Given the description of an element on the screen output the (x, y) to click on. 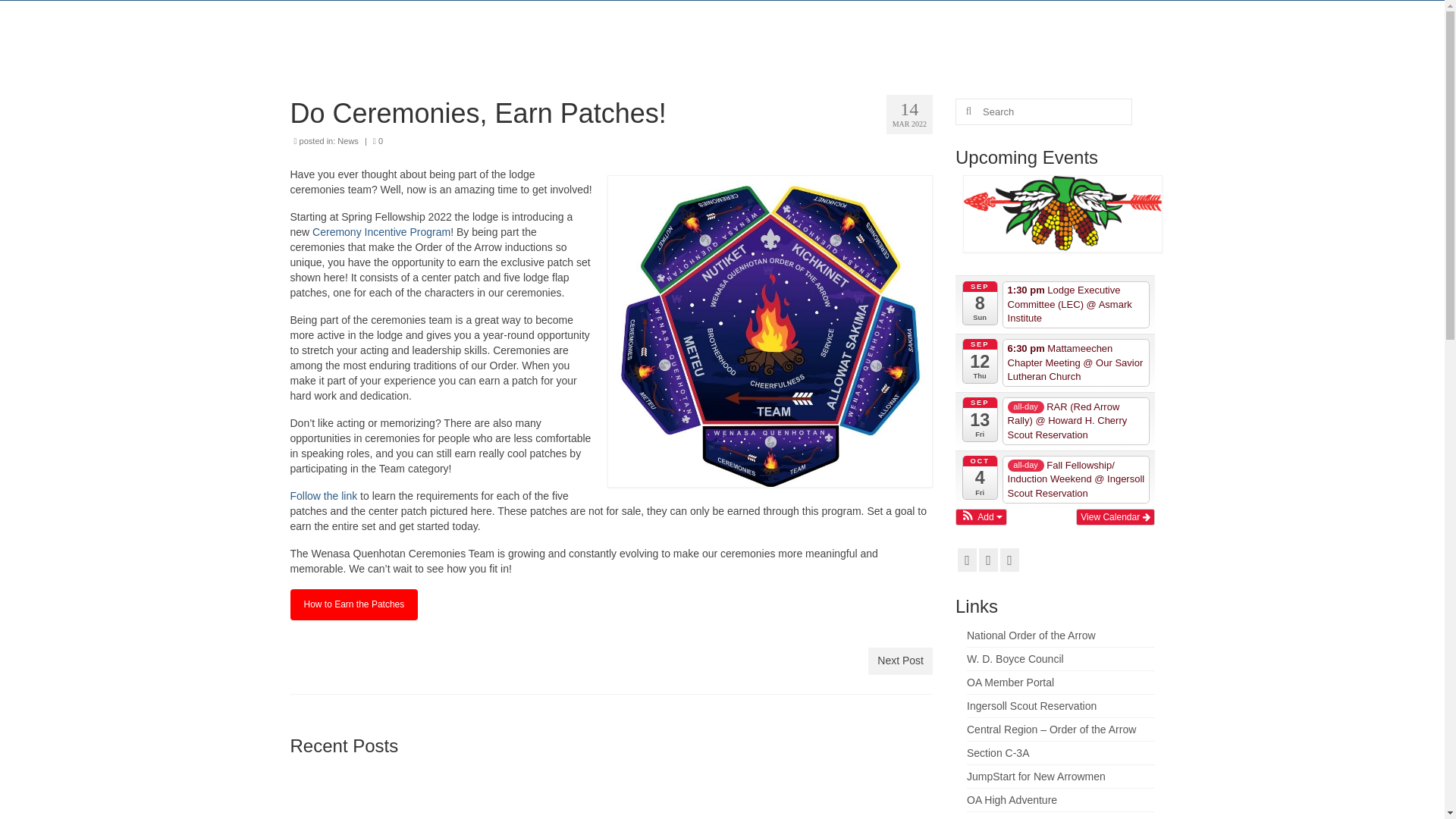
Resources (1014, 25)
Photo Gallery (826, 25)
Contact Us (1106, 25)
Programs (926, 25)
About (651, 25)
Calendar (727, 25)
